Given the description of an element on the screen output the (x, y) to click on. 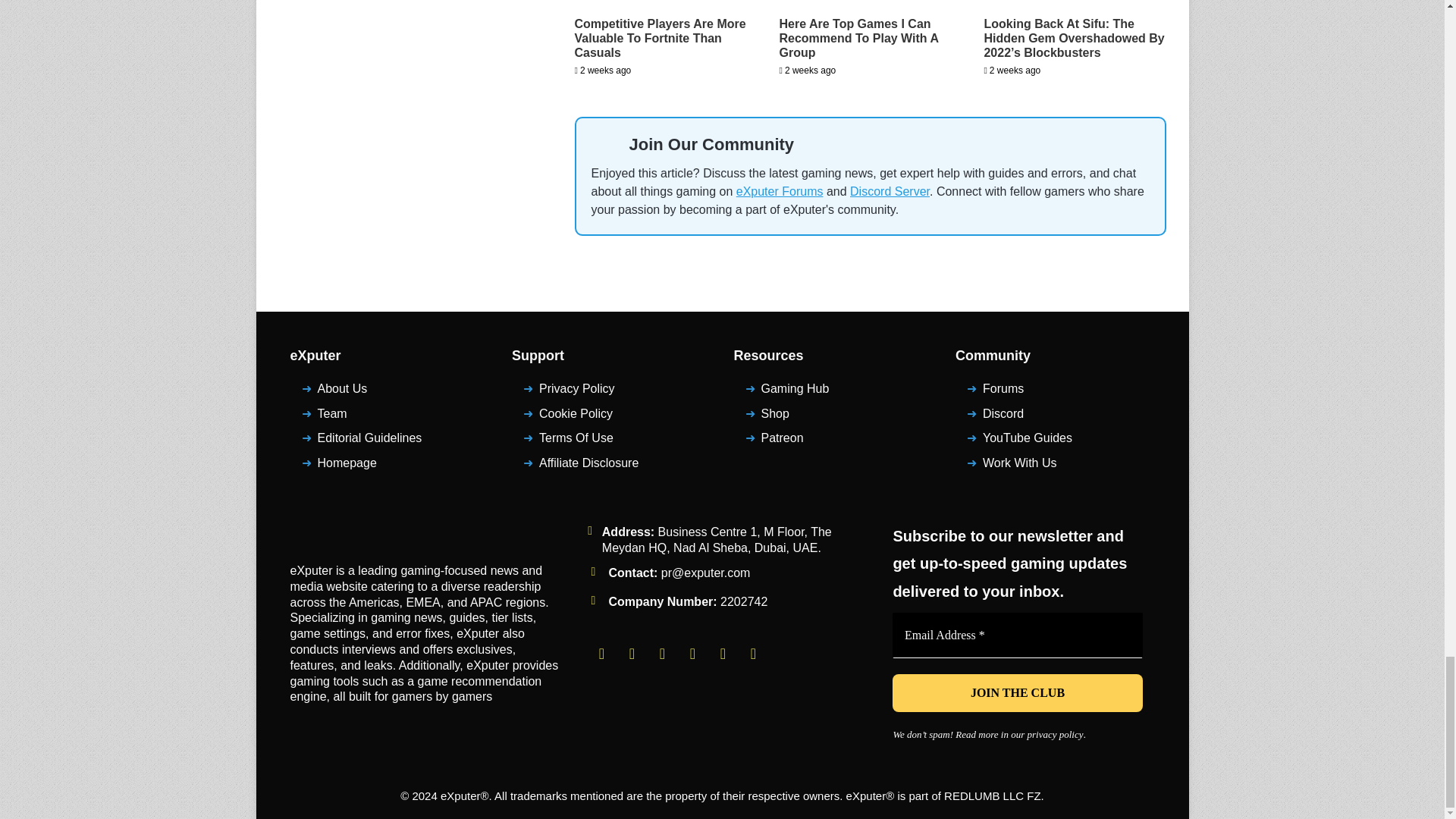
JOIN THE  CLUB (1017, 692)
Email Address (1017, 635)
